Given the description of an element on the screen output the (x, y) to click on. 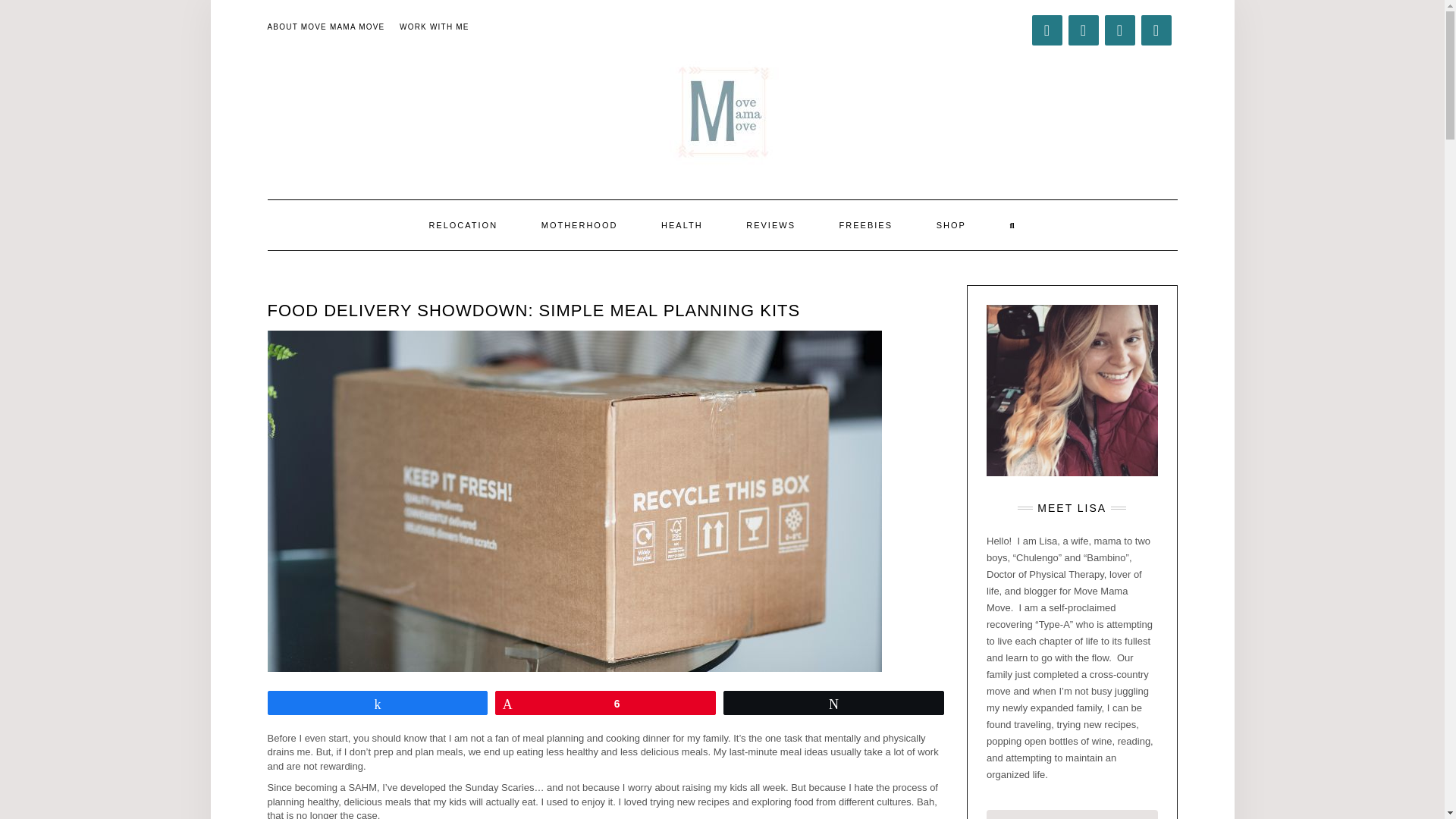
6 (605, 702)
Instagram (1118, 30)
WORK WITH ME (433, 26)
FREEBIES (865, 224)
MOTHERHOOD (580, 224)
RELOCATION (462, 224)
SHOP (951, 224)
HEALTH (681, 224)
Facebook (1045, 30)
REVIEWS (770, 224)
